Given the description of an element on the screen output the (x, y) to click on. 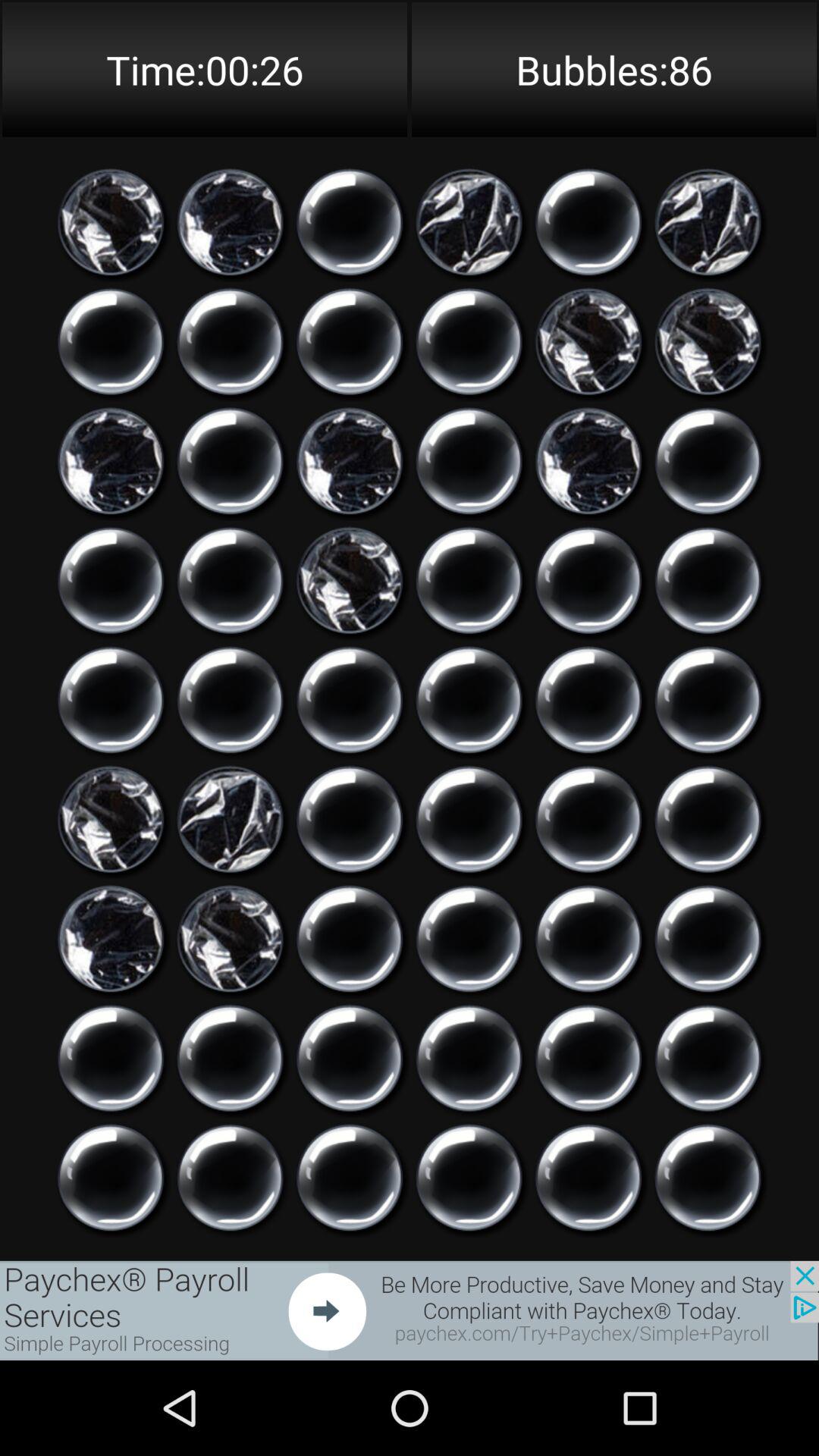
select bubble (230, 699)
